Given the description of an element on the screen output the (x, y) to click on. 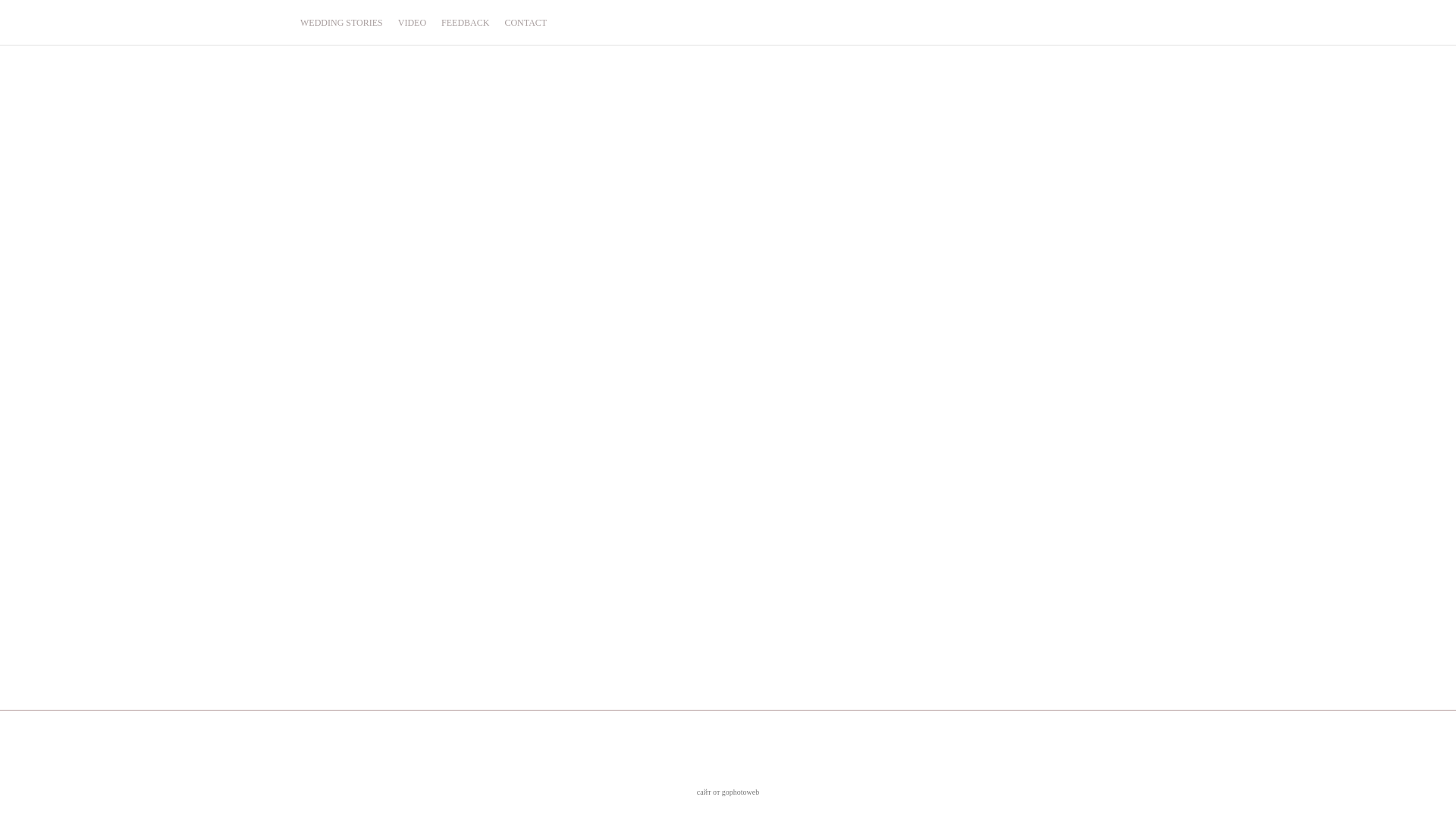
FEEDBACK Element type: text (465, 21)
WEDDING STORIES Element type: text (341, 21)
VIDEO Element type: text (412, 21)
CONTACT Element type: text (525, 21)
